Given the description of an element on the screen output the (x, y) to click on. 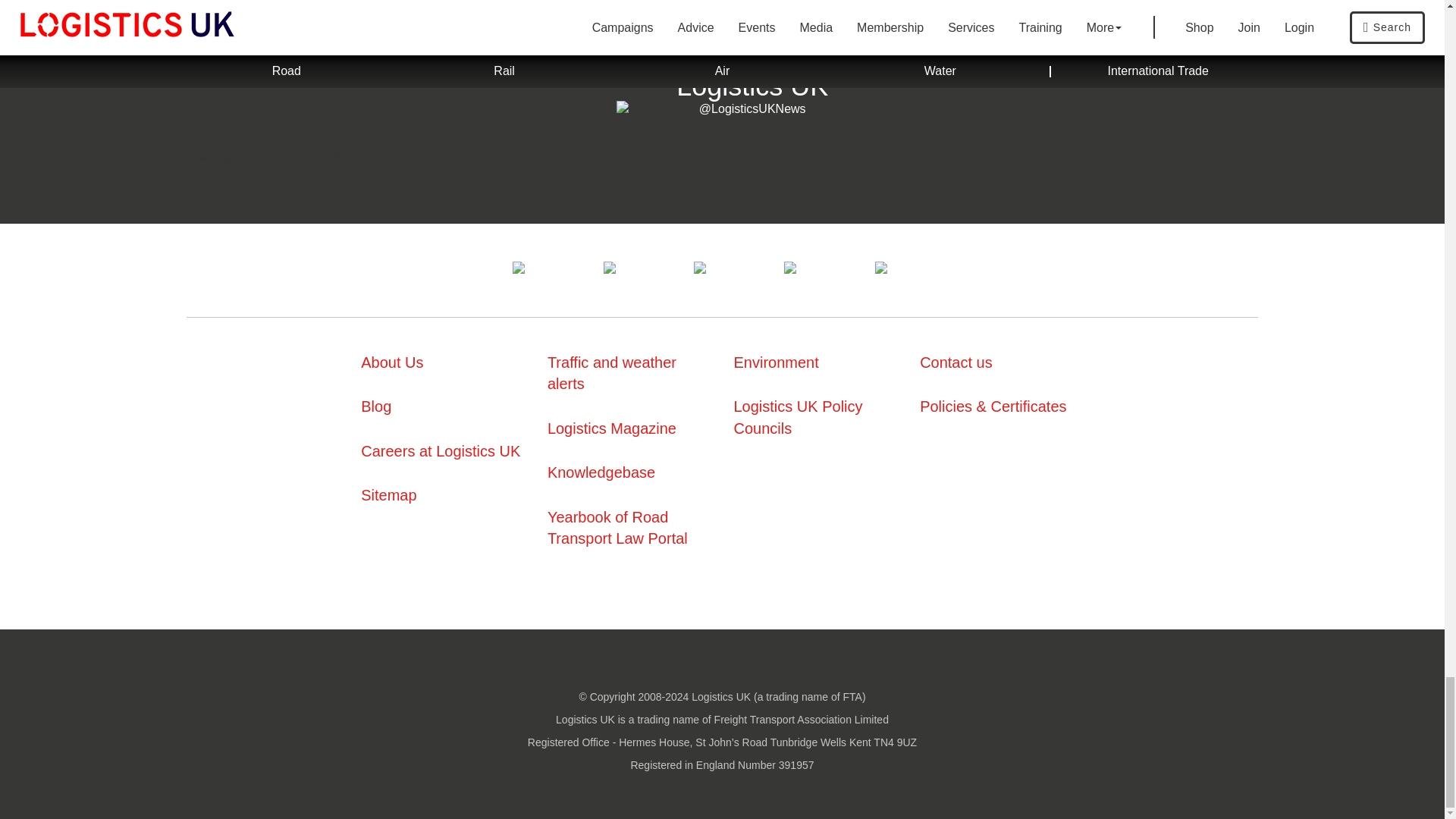
About Us (392, 362)
Blog (376, 406)
